Given the description of an element on the screen output the (x, y) to click on. 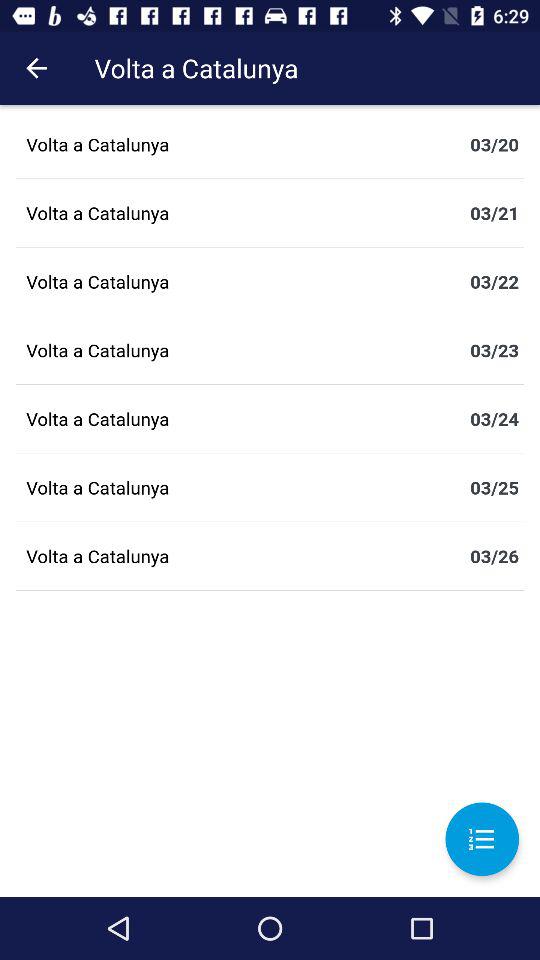
launch the item above the volta a catalunya icon (36, 68)
